Given the description of an element on the screen output the (x, y) to click on. 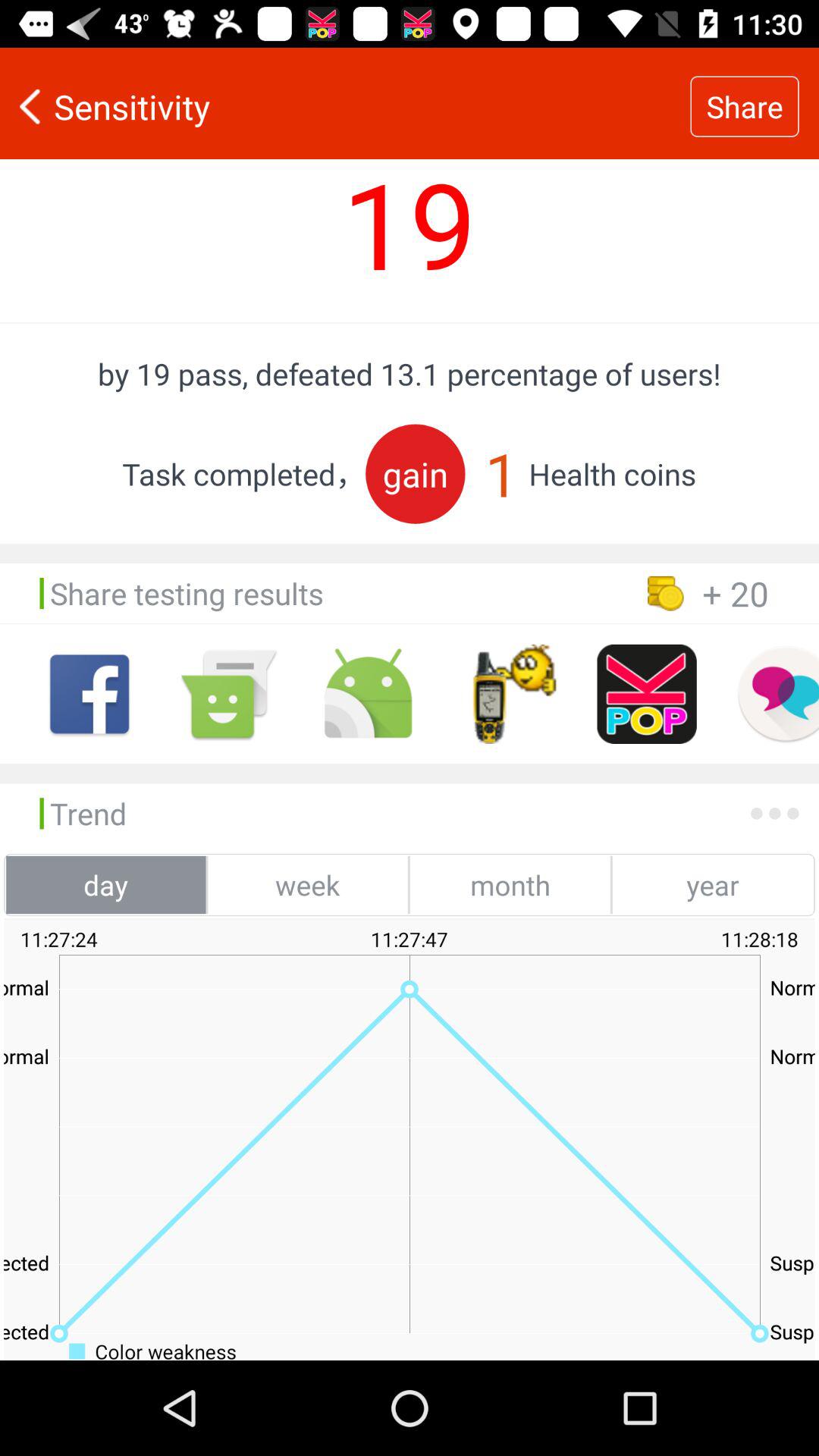
choose the gain (415, 473)
